Given the description of an element on the screen output the (x, y) to click on. 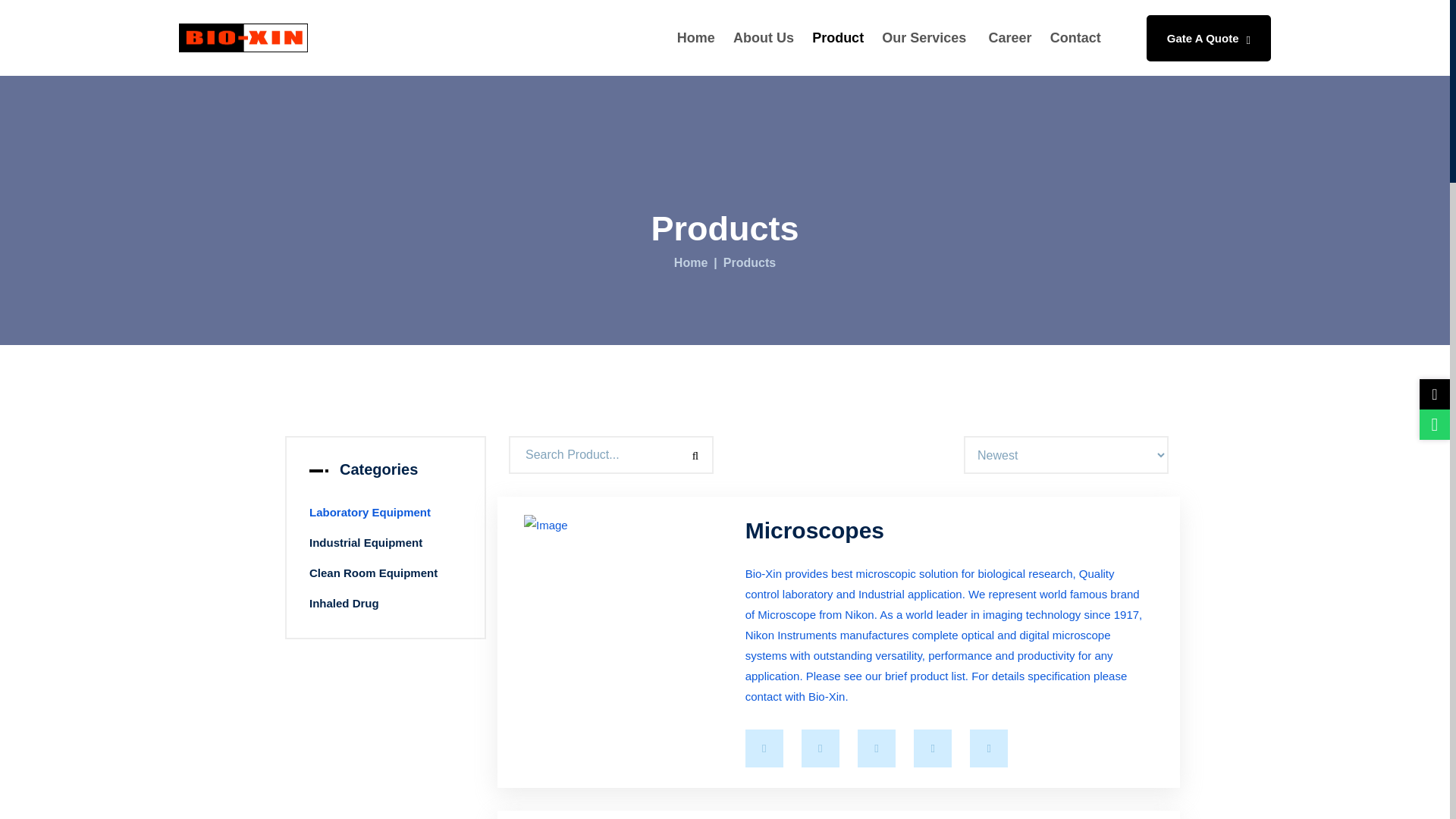
Contact (1075, 38)
Home (695, 38)
Home (690, 263)
Clean Room Equipment (384, 572)
About Us (763, 38)
Inhaled Drug (384, 603)
Our Services (925, 38)
Product (837, 38)
Gate A Quote (1209, 38)
Laboratory Equipment (384, 512)
Industrial Equipment (384, 542)
Career (1010, 38)
